Given the description of an element on the screen output the (x, y) to click on. 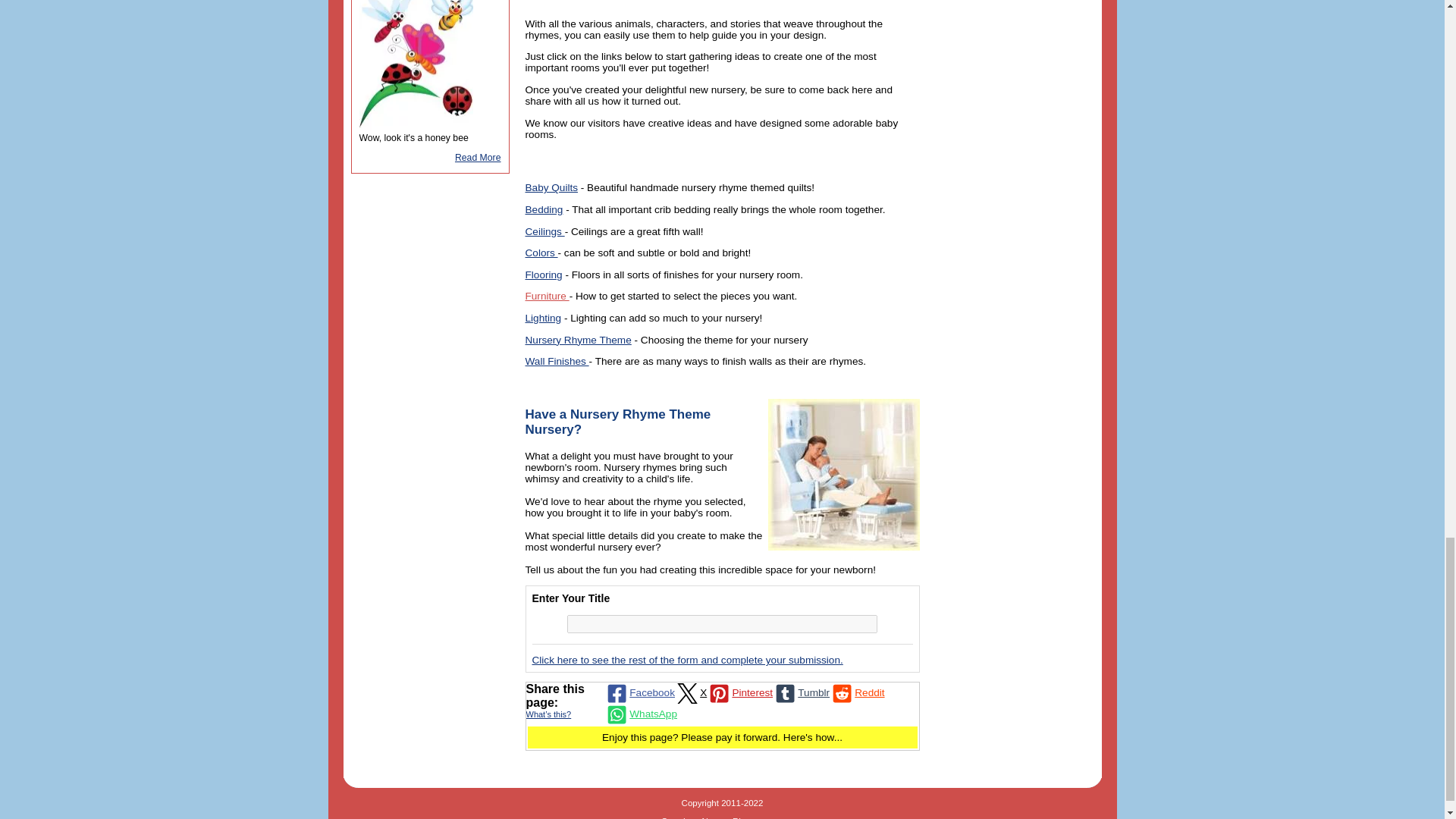
Wall Finishes (556, 360)
Lighting (542, 317)
Facebook (639, 692)
Baby Quilts (551, 187)
Nursery Rhyme Theme (577, 339)
Reddit (856, 692)
Ceilings (544, 231)
Flooring (543, 274)
Bedding (543, 209)
